Given the description of an element on the screen output the (x, y) to click on. 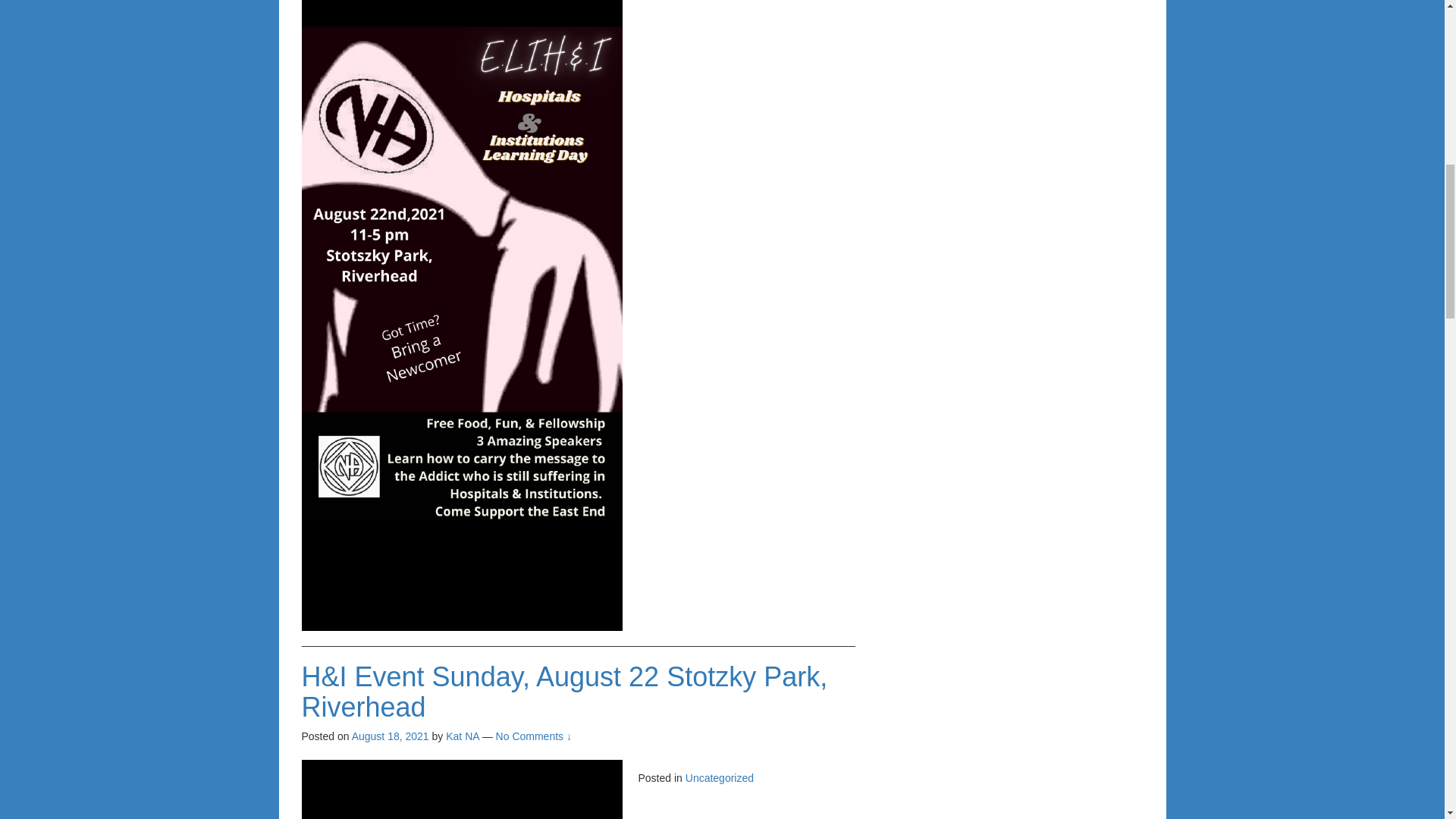
View all posts by Kat NA (462, 736)
5:11 pm (390, 736)
